Given the description of an element on the screen output the (x, y) to click on. 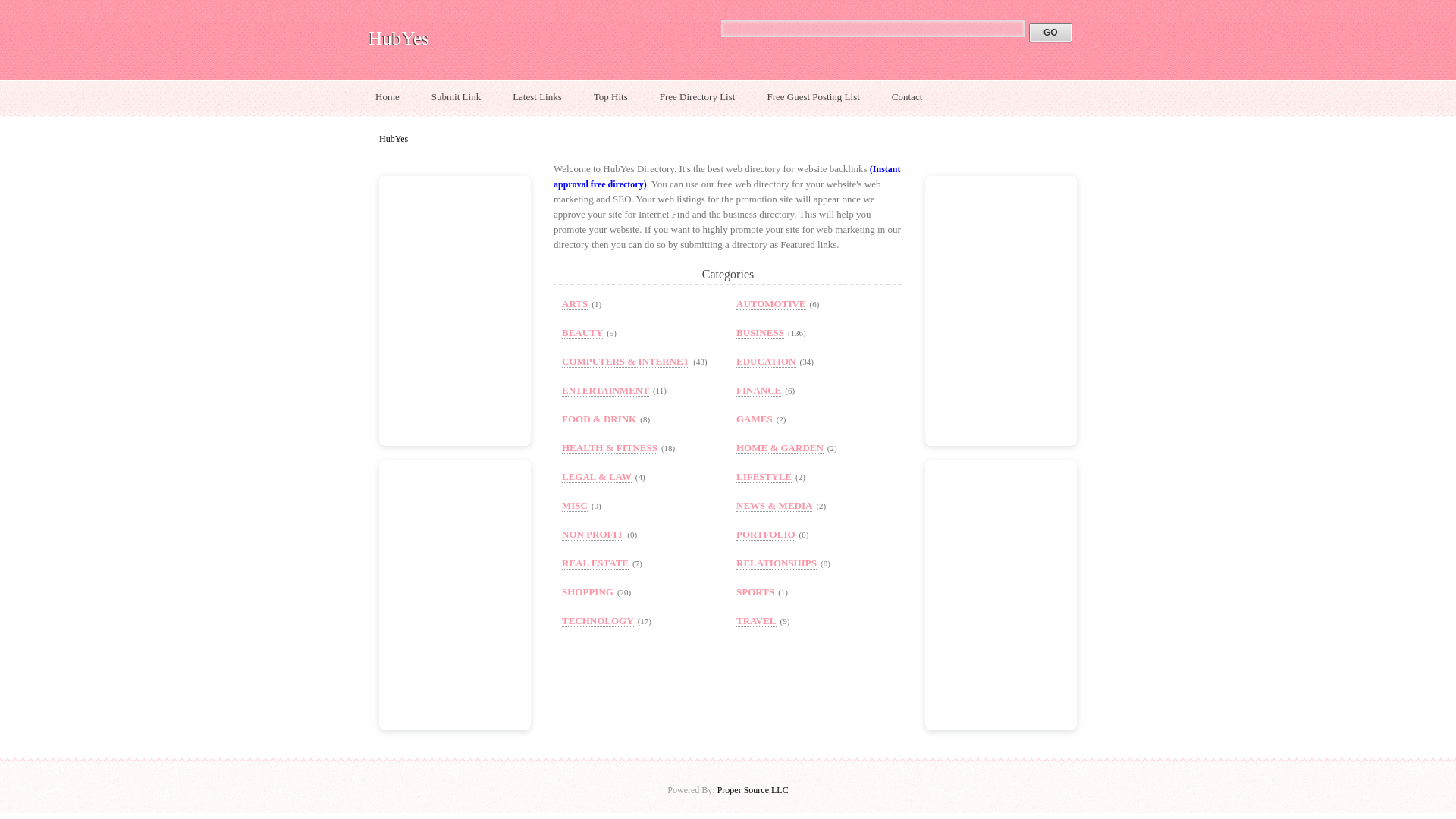
Misc (575, 505)
GO (1050, 32)
Proper Source LLC (753, 789)
FINANCE (758, 390)
LIFESTYLE (764, 476)
SPORTS (755, 592)
Latest Links (536, 97)
HubYes (398, 37)
TRAVEL (756, 621)
Education (766, 361)
GAMES (754, 419)
TECHNOLOGY (597, 621)
ARTS (575, 304)
Real Estate (595, 563)
EDUCATION (766, 361)
